Given the description of an element on the screen output the (x, y) to click on. 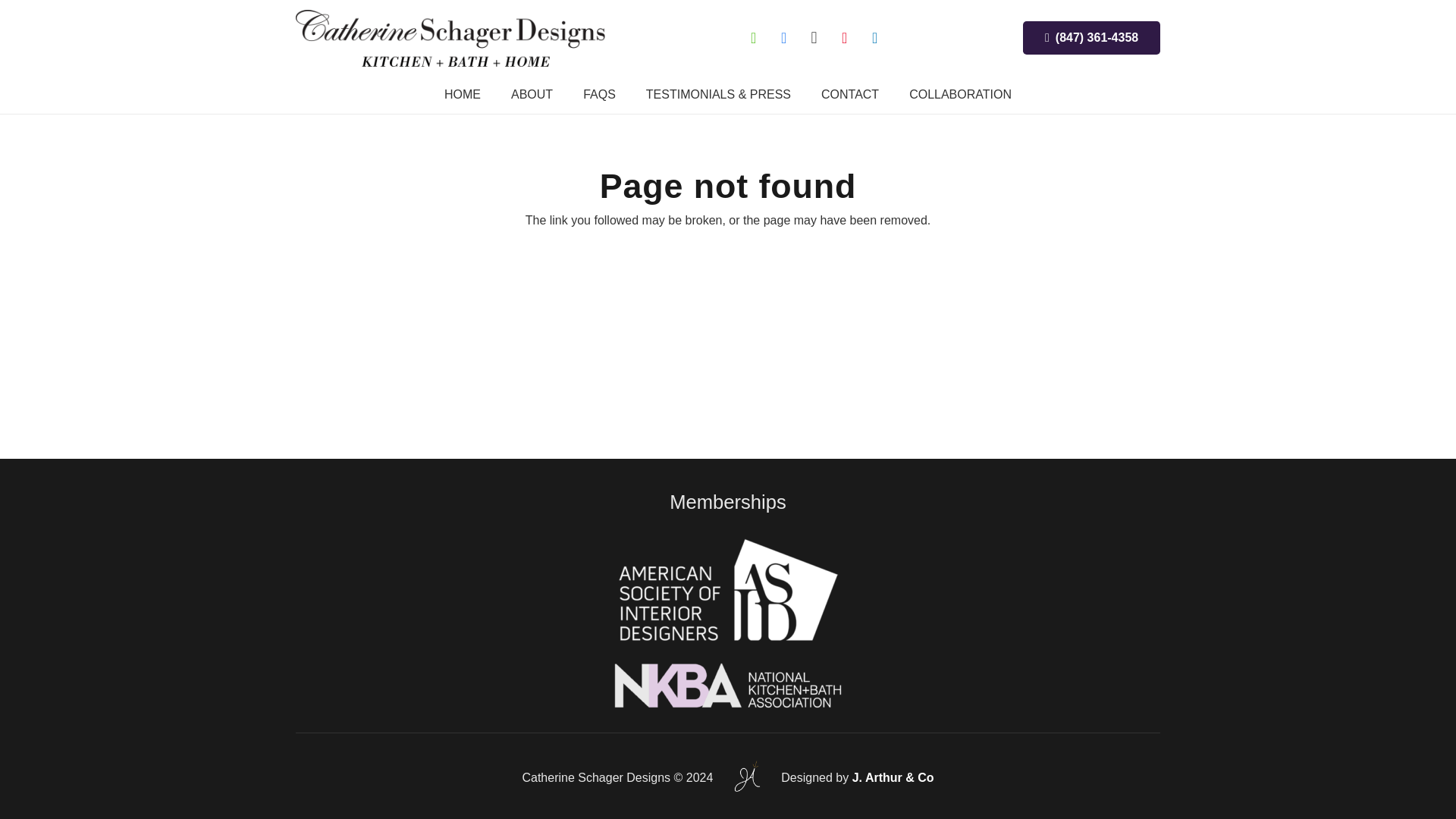
Pinterest (844, 37)
Houzz (753, 37)
Instagram (814, 37)
LinkedIn (874, 37)
Facebook (783, 37)
NKBA Membership (727, 685)
ABOUT (531, 94)
FAQS (598, 94)
Illinois ASID Member (727, 590)
CONTACT (849, 94)
